Given the description of an element on the screen output the (x, y) to click on. 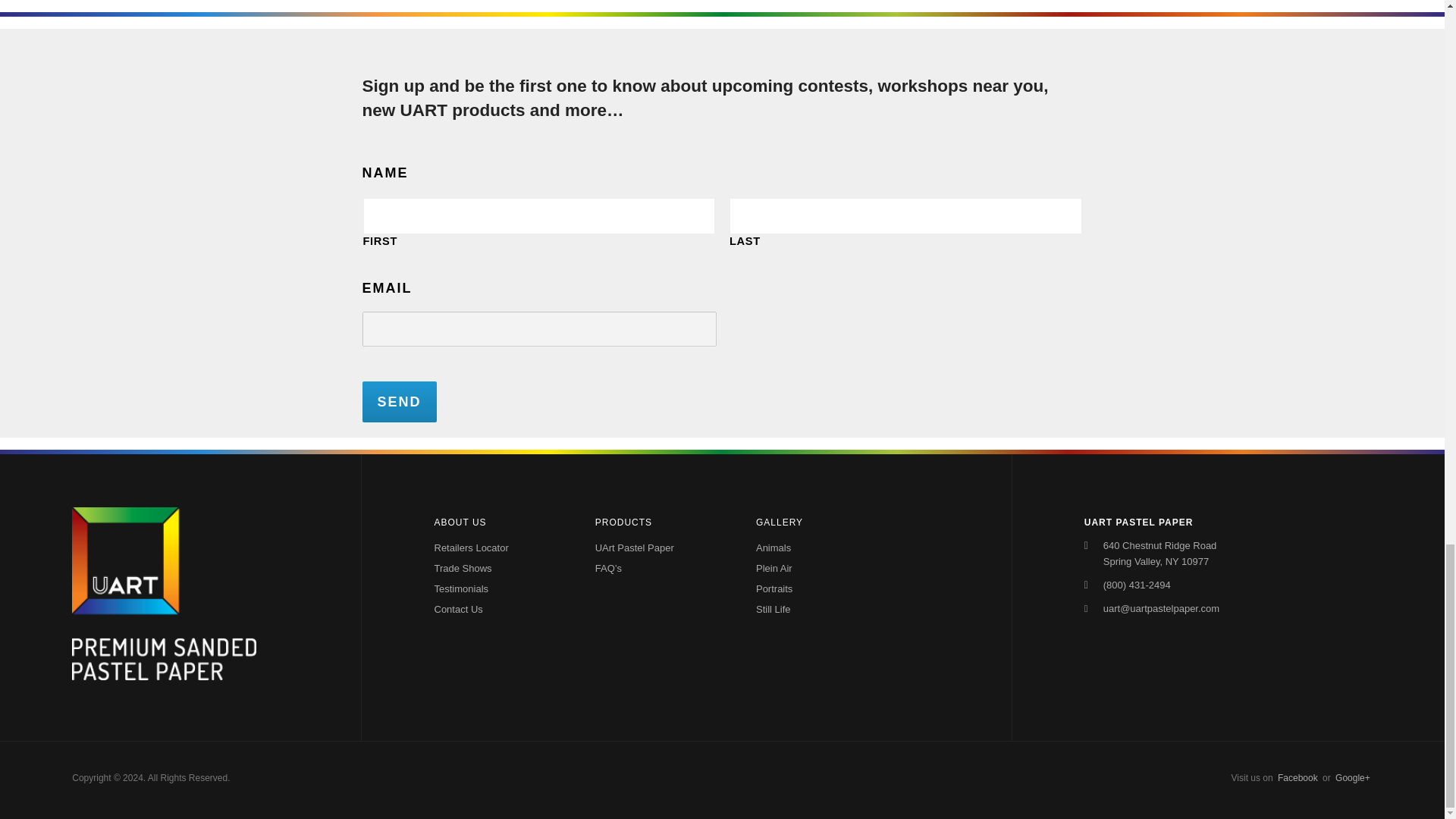
Contact Us (496, 608)
Testimonials (496, 588)
UArt Pastel Paper (636, 547)
Send (399, 401)
Trade Shows (496, 567)
Send (399, 401)
Plein Air (811, 567)
Retailers Locator (496, 547)
GALLERY (818, 521)
Animals (811, 547)
